Given the description of an element on the screen output the (x, y) to click on. 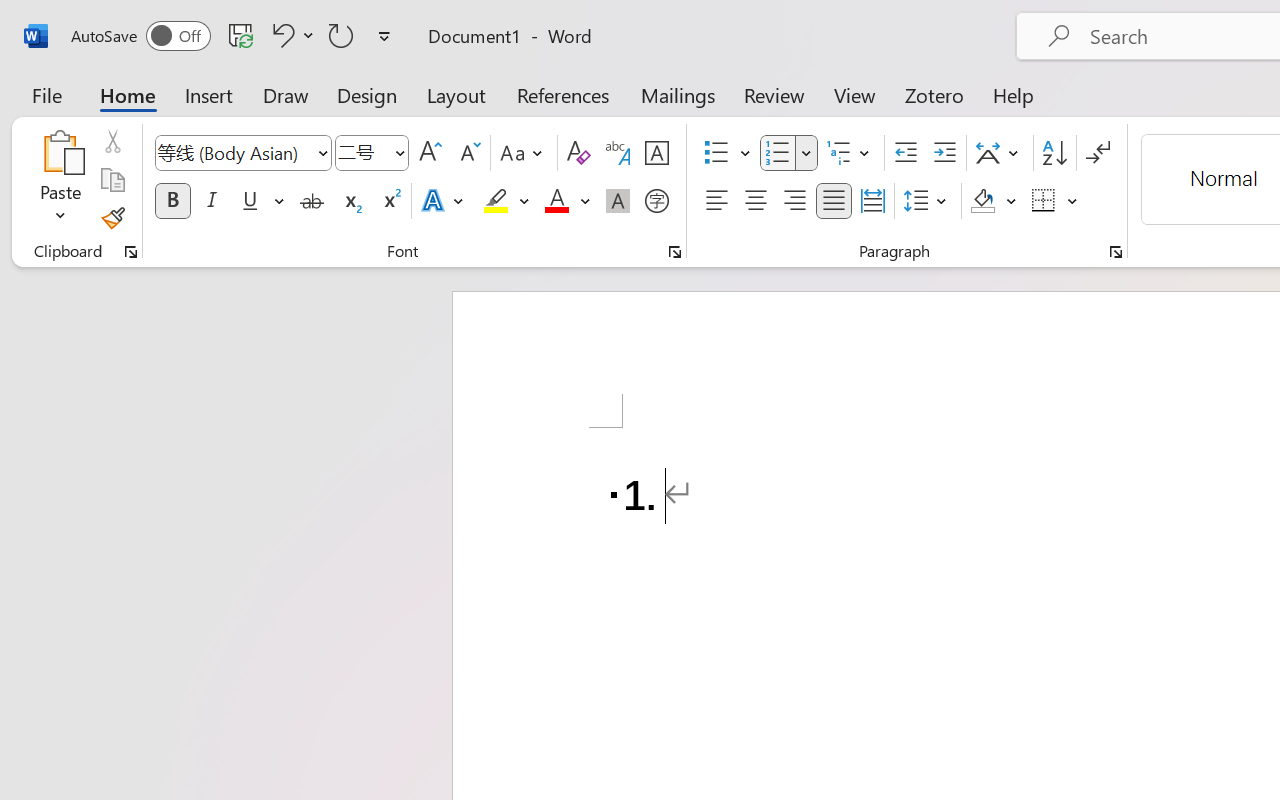
Repeat Number Default (341, 35)
